Given the description of an element on the screen output the (x, y) to click on. 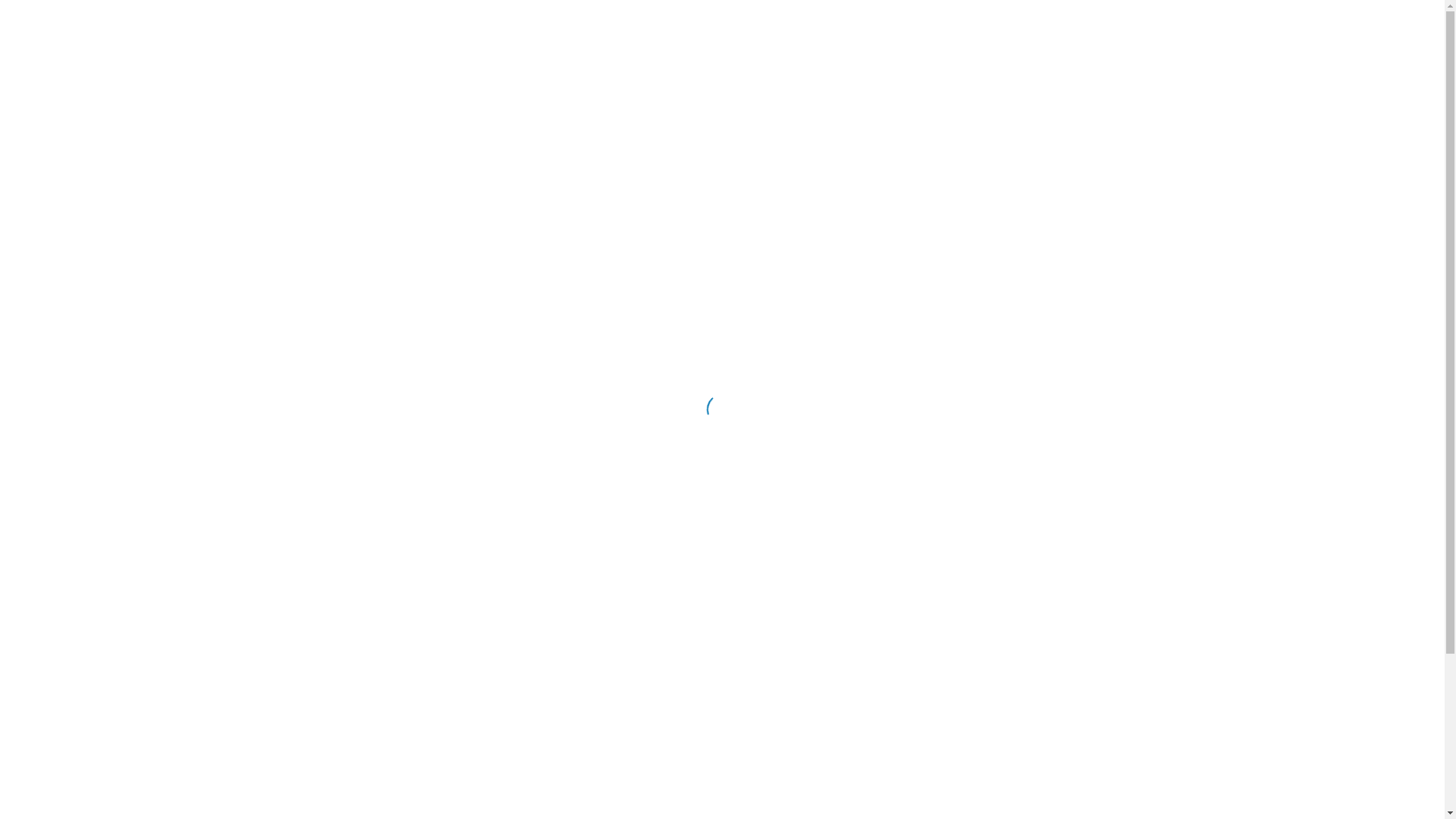
RU Element type: text (1394, 22)
116 Element type: text (1225, 27)
EN Element type: text (1423, 22)
